Given the description of an element on the screen output the (x, y) to click on. 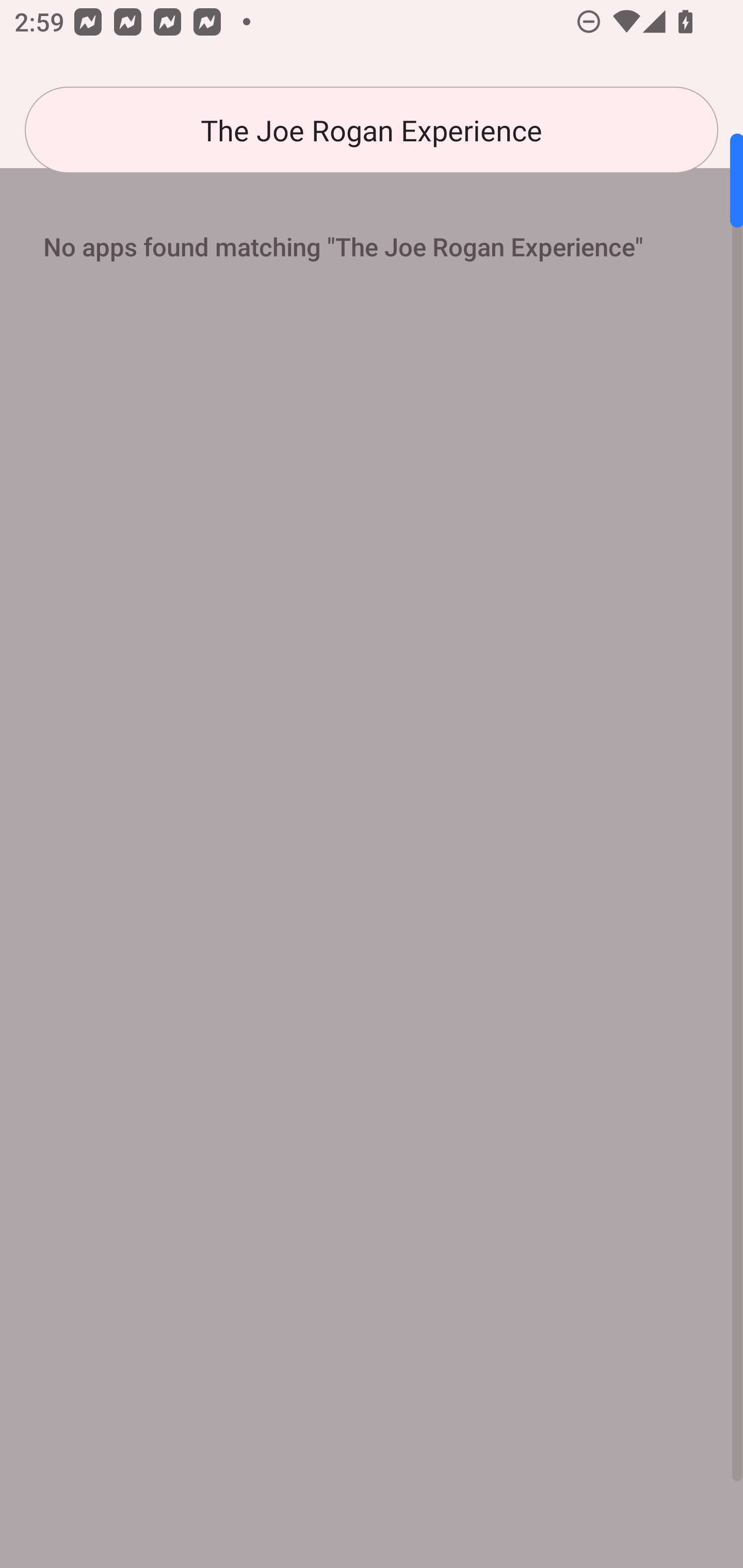
The Joe Rogan Experience (371, 130)
